Given the description of an element on the screen output the (x, y) to click on. 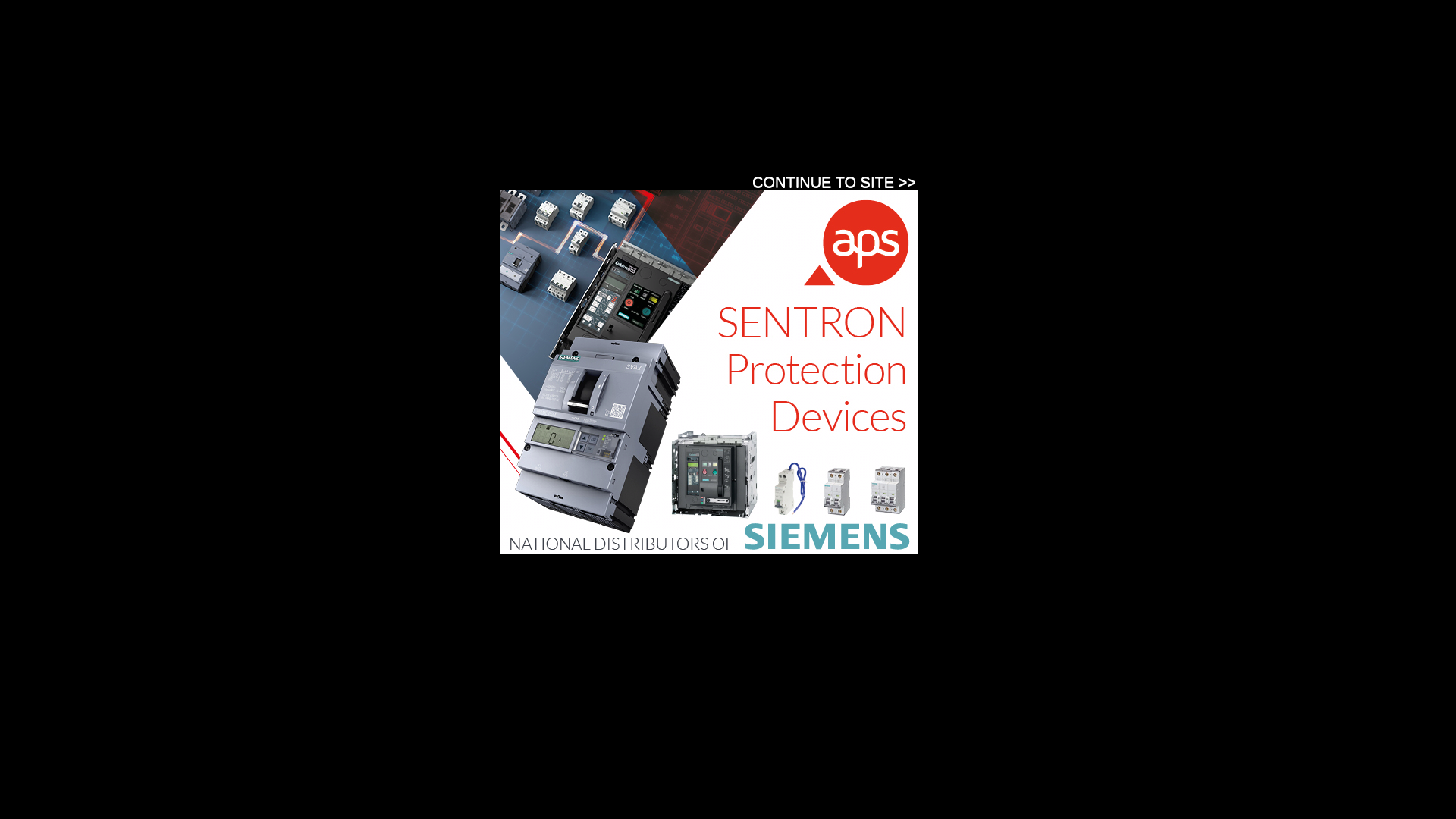
Events Element type: text (402, 178)
3rd party ad content Element type: hover (1025, 335)
Featured Articles Element type: text (1034, 475)
Click2Contact Element type: text (746, 601)
Products Element type: text (519, 178)
NOJA Power VISI-SWITCH down pole operator accessory Element type: text (773, 772)
Toshiba 'TWxxxZxxxC' silicon carbide MOSFETs Element type: text (385, 772)
Subscribe eNewsletter Element type: text (1089, 175)
Business Element type: text (400, 128)
ECD (Electrical+Comms+Data) Element type: hover (371, 53)
Data & Comms Element type: text (478, 128)
3rd party ad content Element type: hover (842, 62)
Electrical distribution Element type: text (582, 128)
3rd party ad content Element type: hover (495, 215)
CONTINUE TO SITE >> Element type: text (834, 181)
3rd party ad content Element type: hover (708, 371)
Test & measure Element type: text (753, 128)
Phoenix Contact THERMOMARK GO.K handheld thermal printer Element type: hover (747, 479)
MacLean Electrical (Australia) Pty Ltd Element type: text (442, 335)
Automation Element type: text (332, 128)
Directory Element type: text (577, 178)
Resources Element type: text (459, 178)
www.maclean-electrical.com.au Element type: text (417, 672)
Efficiency Element type: text (673, 128)
Cortec VpCI Emitter Element type: text (552, 765)
About Us Element type: text (635, 178)
The Magazine Element type: text (336, 178)
